Given the description of an element on the screen output the (x, y) to click on. 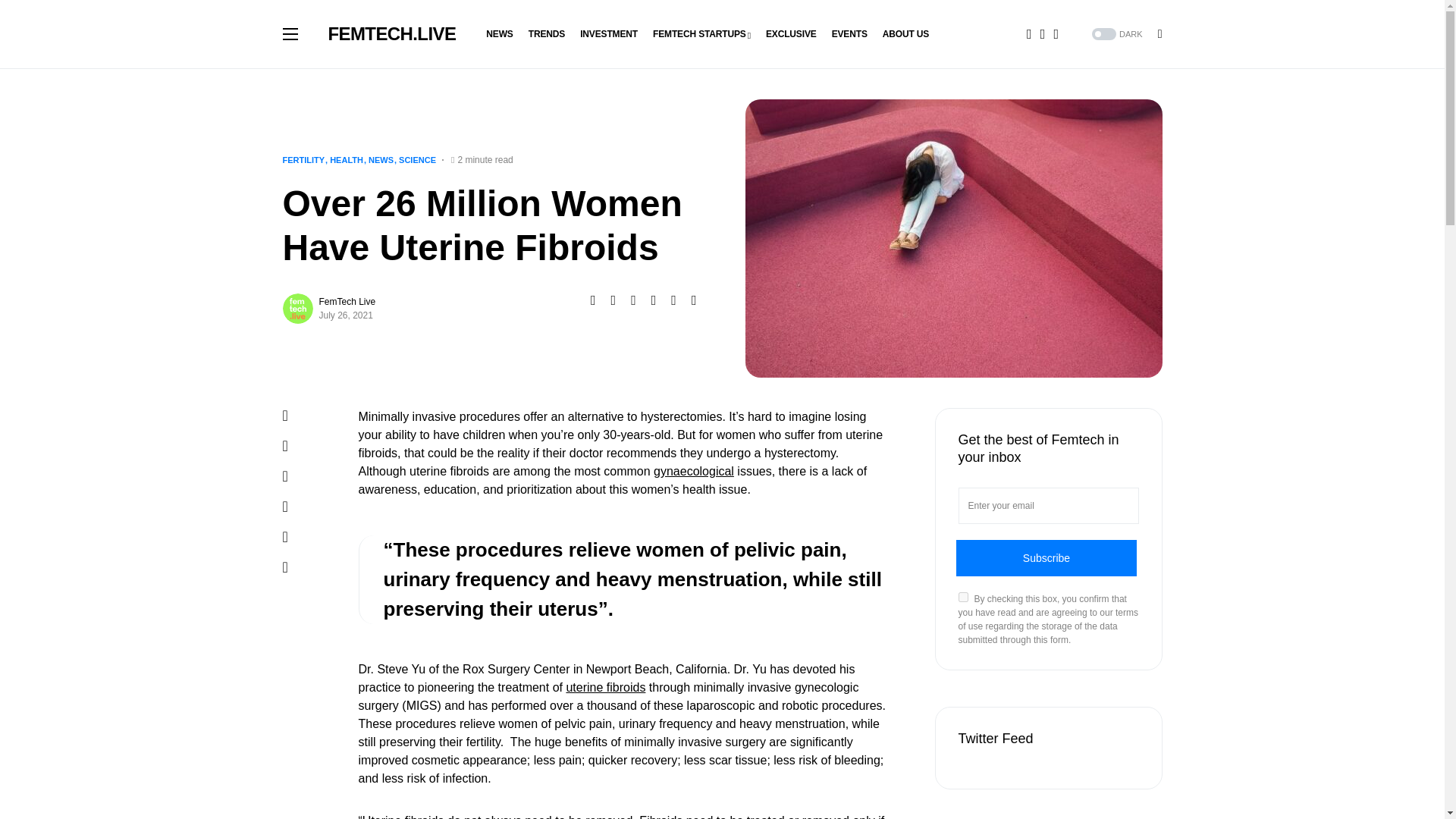
on (963, 596)
FEMTECH STARTUPS (701, 33)
FEMTECH.LIVE (391, 33)
